Given the description of an element on the screen output the (x, y) to click on. 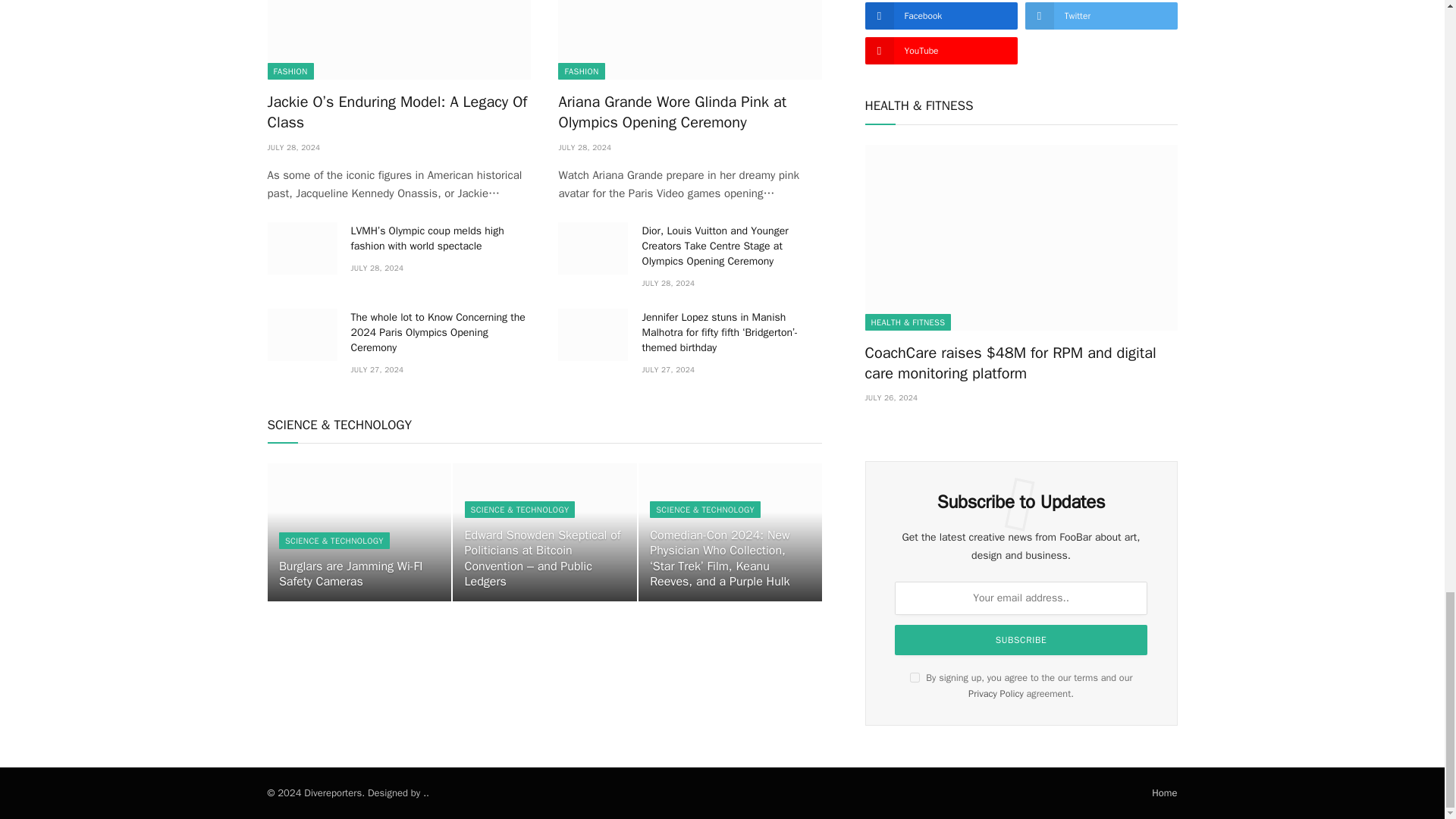
Subscribe (1021, 639)
on (915, 677)
